Given the description of an element on the screen output the (x, y) to click on. 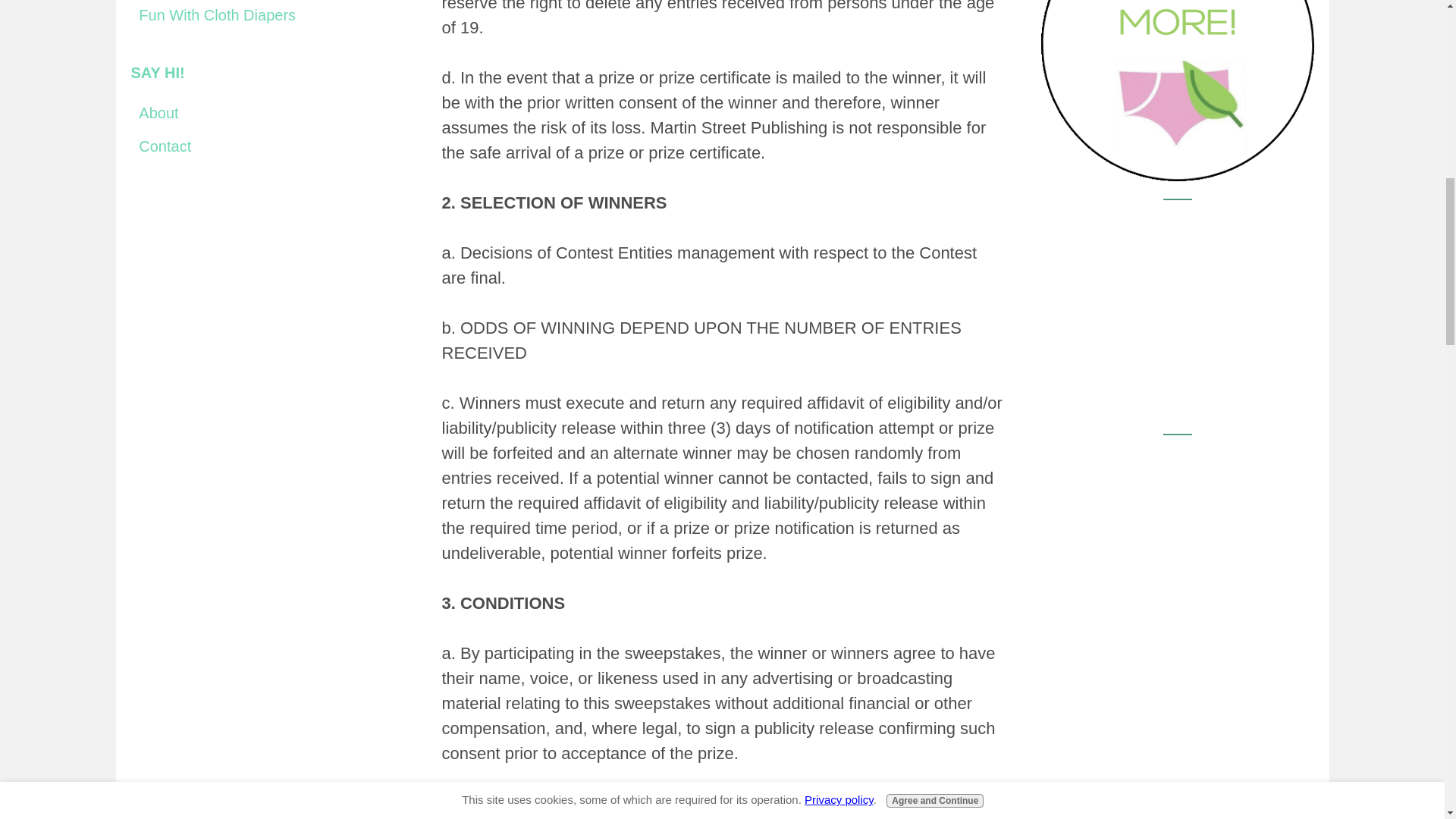
Contact (267, 146)
Diaper Lab Ad (1177, 90)
Fun With Cloth Diapers (267, 15)
Cuddle Bear Bottoms Ad (1177, 313)
The Blythe Life Large Ad (1177, 548)
About (267, 113)
